Given the description of an element on the screen output the (x, y) to click on. 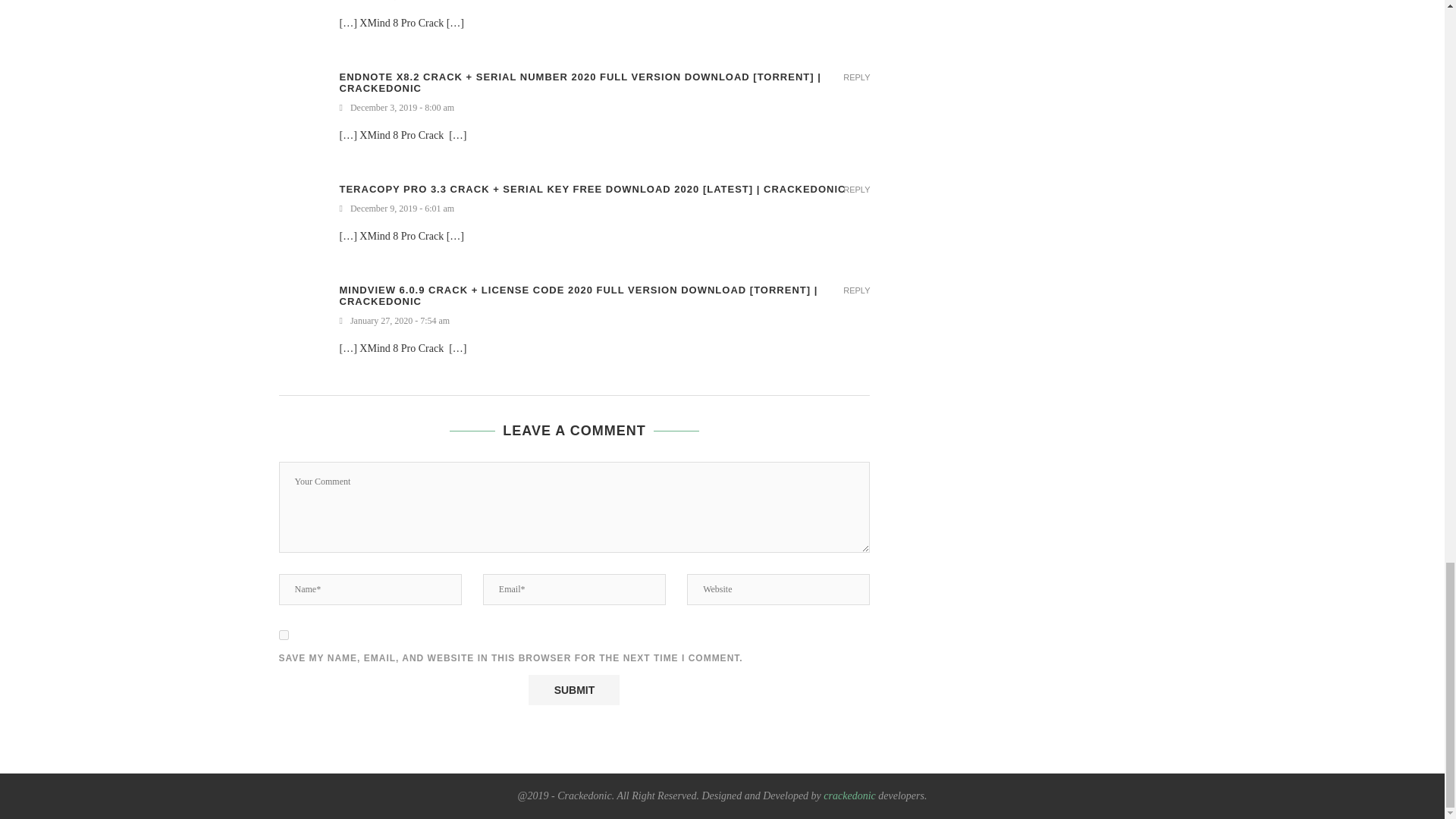
Submit (574, 689)
yes (283, 634)
